Given the description of an element on the screen output the (x, y) to click on. 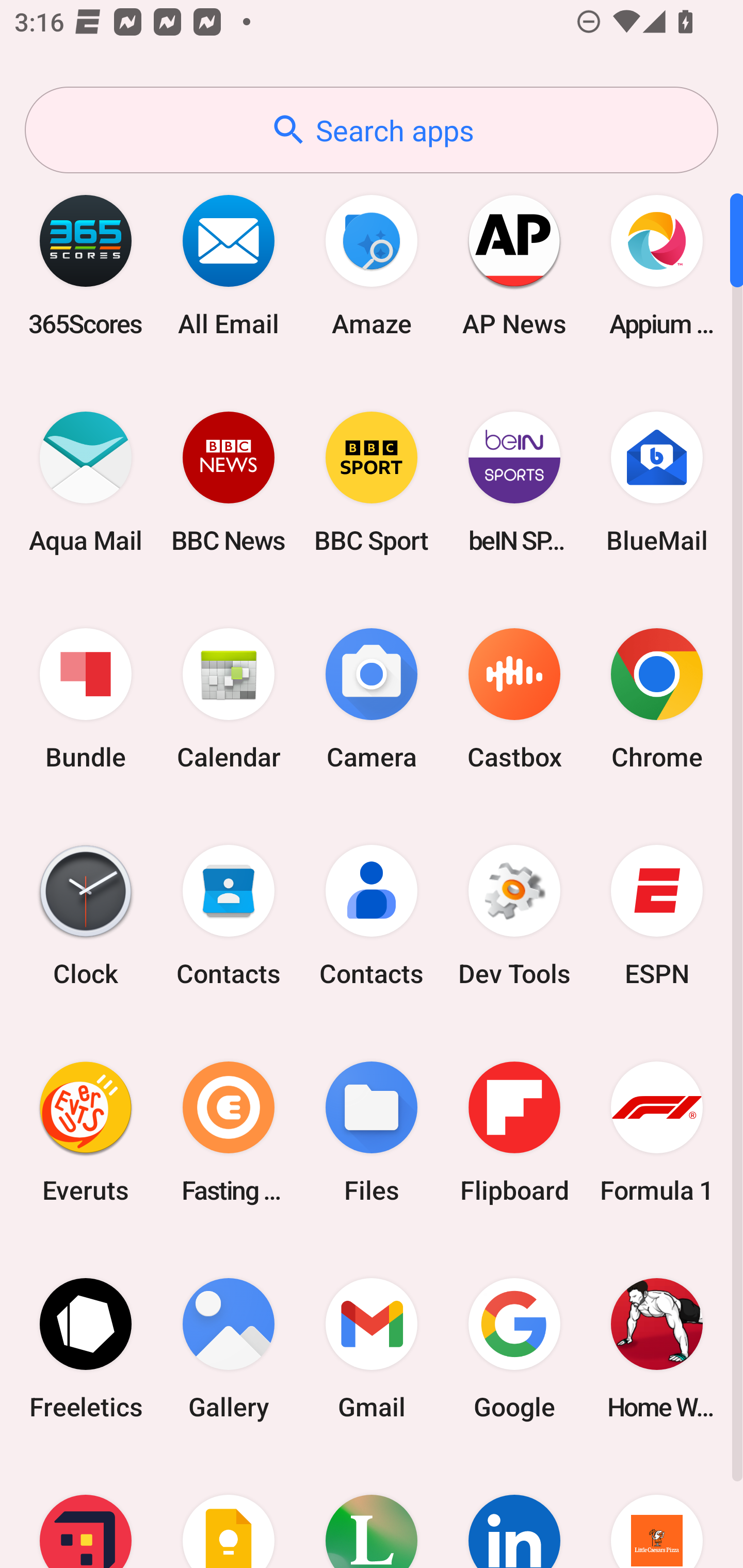
  Search apps (371, 130)
365Scores (85, 264)
All Email (228, 264)
Amaze (371, 264)
AP News (514, 264)
Appium Settings (656, 264)
Aqua Mail (85, 482)
BBC News (228, 482)
BBC Sport (371, 482)
beIN SPORTS (514, 482)
BlueMail (656, 482)
Bundle (85, 699)
Calendar (228, 699)
Camera (371, 699)
Castbox (514, 699)
Chrome (656, 699)
Clock (85, 915)
Contacts (228, 915)
Contacts (371, 915)
Dev Tools (514, 915)
ESPN (656, 915)
Everuts (85, 1131)
Fasting Coach (228, 1131)
Files (371, 1131)
Flipboard (514, 1131)
Formula 1 (656, 1131)
Freeletics (85, 1348)
Gallery (228, 1348)
Gmail (371, 1348)
Google (514, 1348)
Home Workout (656, 1348)
Hotels.com (85, 1512)
Keep Notes (228, 1512)
Lifesum (371, 1512)
LinkedIn (514, 1512)
Little Caesars Pizza (656, 1512)
